Given the description of an element on the screen output the (x, y) to click on. 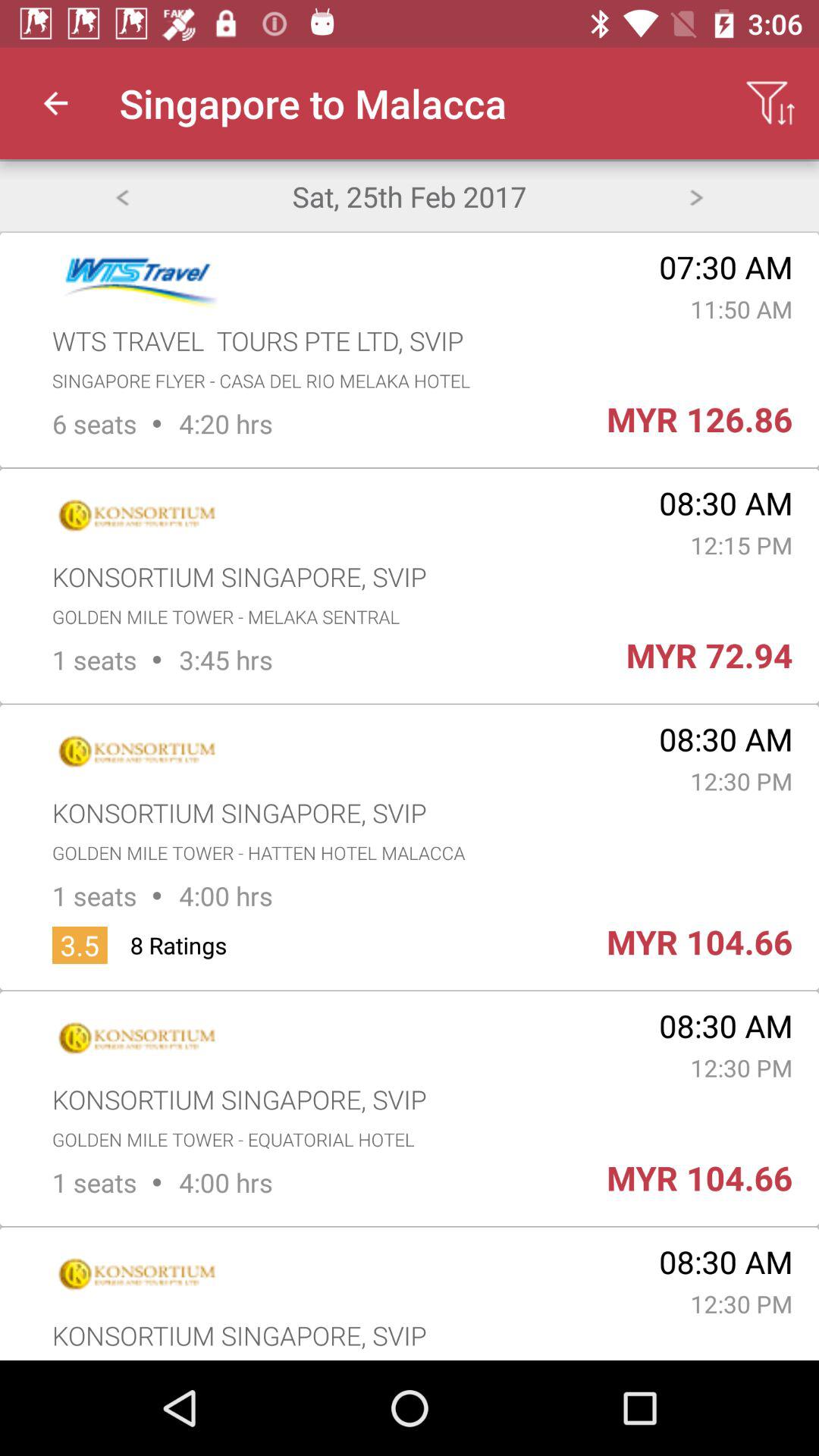
go to next day options (696, 196)
